Given the description of an element on the screen output the (x, y) to click on. 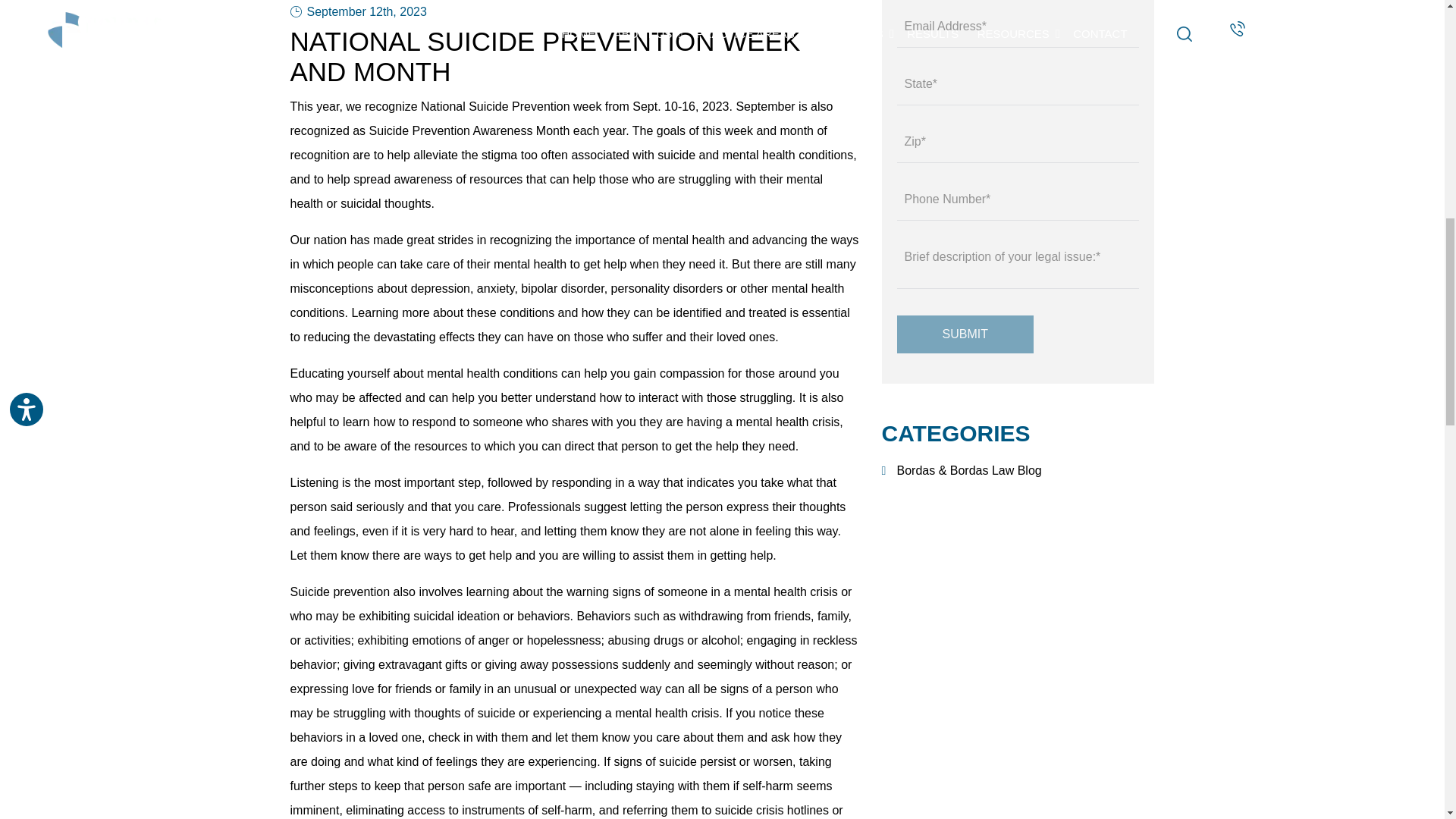
Submit (964, 333)
